Given the description of an element on the screen output the (x, y) to click on. 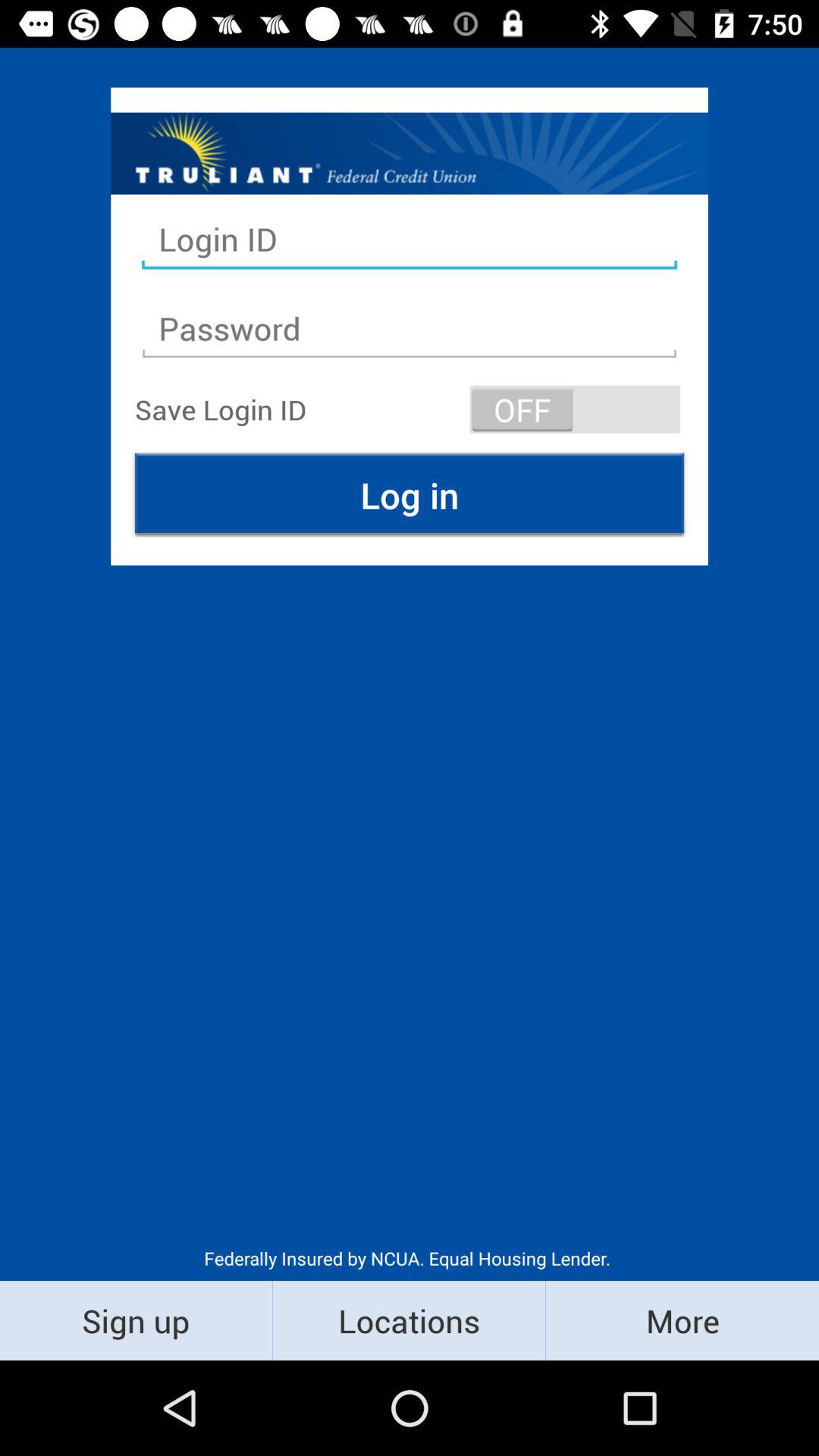
flip to sign up (136, 1320)
